Given the description of an element on the screen output the (x, y) to click on. 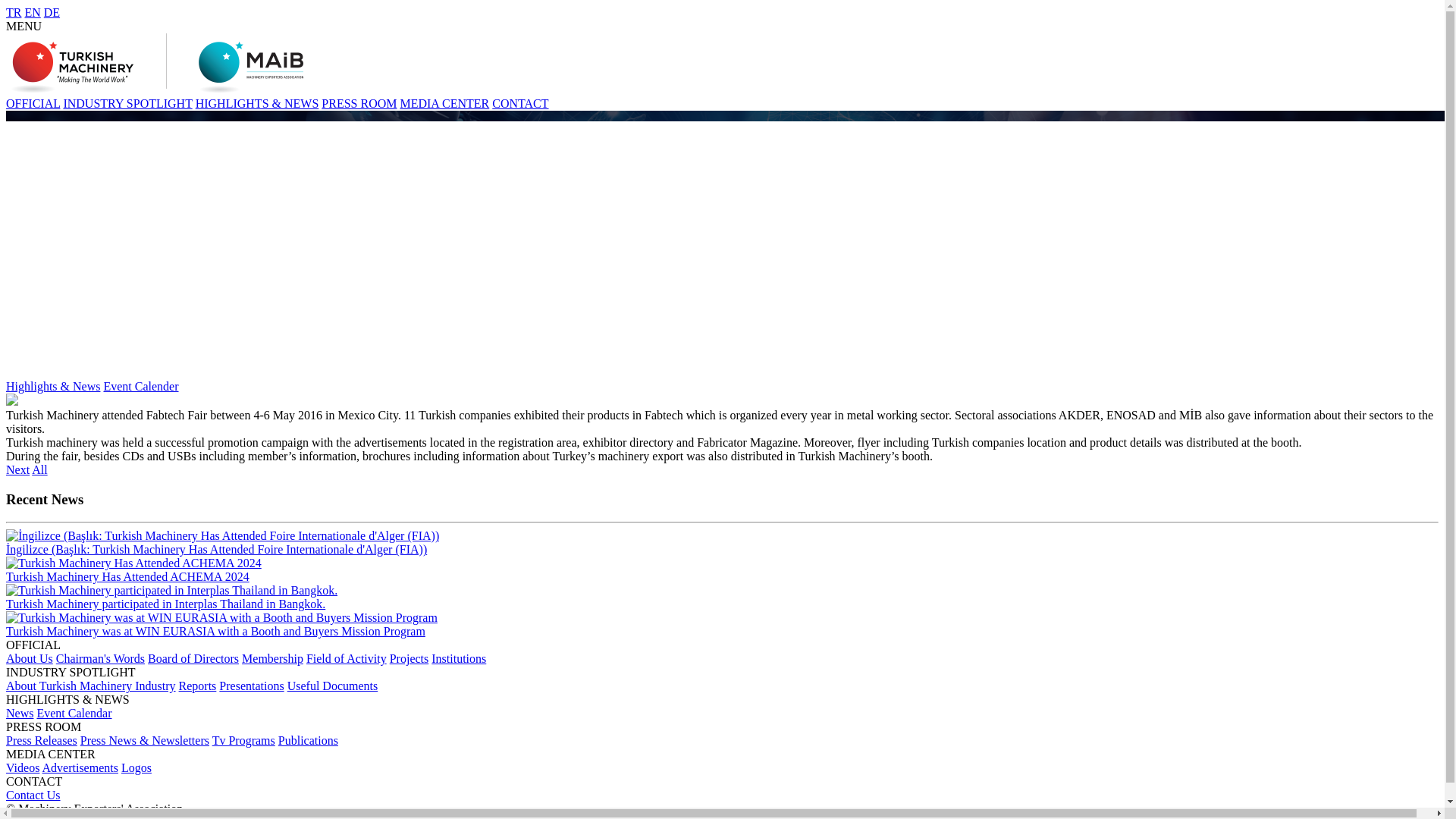
About Us (28, 658)
Membership (271, 658)
CONTACT (520, 103)
News (19, 712)
Field of Activity (346, 658)
Turkish Machinery Has Attended ACHEMA 2024 (721, 569)
INDUSTRY SPOTLIGHT (127, 103)
MEDIA CENTER (443, 103)
Useful Documents (332, 685)
Projects (409, 658)
Board of Directors (193, 658)
Event Calender (140, 386)
OFFICIAL (32, 103)
All (39, 469)
